Given the description of an element on the screen output the (x, y) to click on. 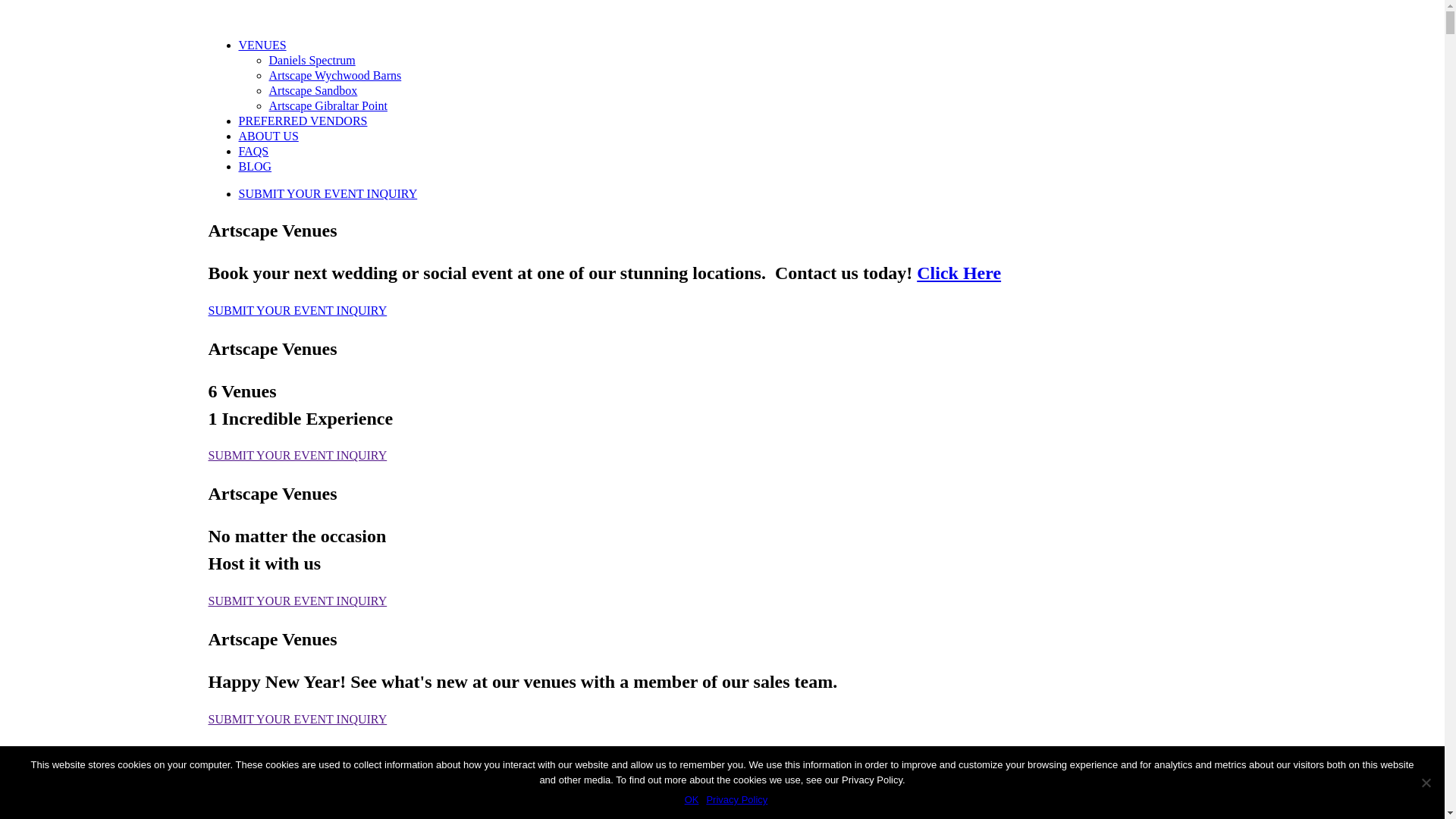
Artscape Wychwood Barns Element type: text (334, 75)
Decline Element type: hover (1425, 782)
FAQS Element type: text (253, 150)
SUBMIT YOUR EVENT INQUIRY Element type: text (296, 310)
Artscape Gibraltar Point Element type: text (327, 105)
SUBMIT YOUR EVENT INQUIRY Element type: text (296, 454)
ABOUT US Element type: text (268, 135)
Click Here Element type: text (958, 272)
Artscape Sandbox Element type: text (312, 90)
OK Element type: text (691, 799)
SUBMIT YOUR EVENT INQUIRY Element type: text (296, 600)
Privacy Policy Element type: text (736, 799)
BLOG Element type: text (254, 166)
SUBMIT YOUR EVENT INQUIRY Element type: text (737, 193)
Daniels Spectrum Element type: text (311, 59)
PREFERRED VENDORS Element type: text (302, 120)
SUBMIT YOUR EVENT INQUIRY Element type: text (296, 718)
VENUES Element type: text (261, 44)
